Given the description of an element on the screen output the (x, y) to click on. 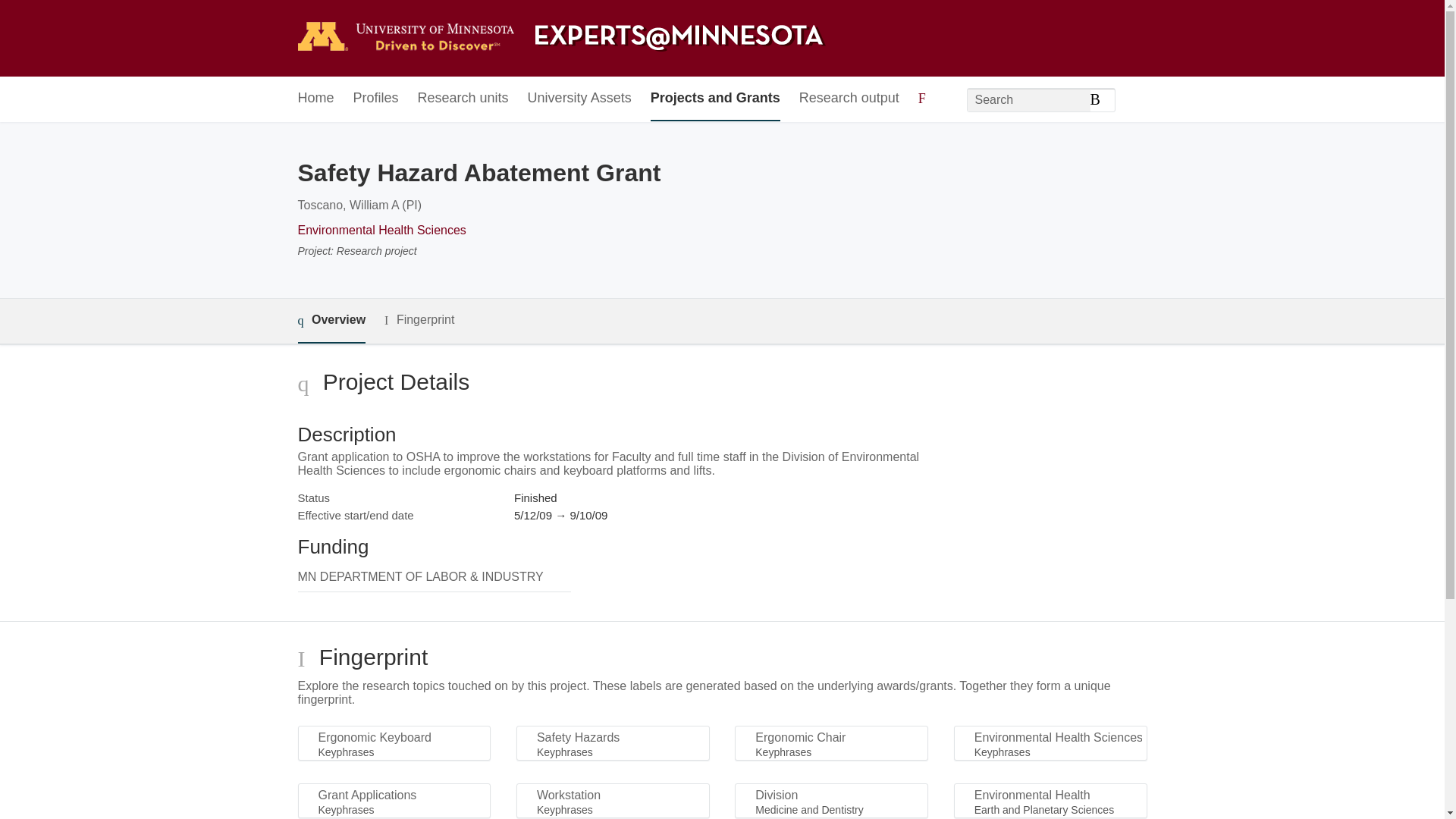
Profiles (375, 98)
Projects and Grants (715, 98)
Research units (462, 98)
Environmental Health Sciences (381, 229)
Fingerprint (419, 320)
University Assets (579, 98)
Overview (331, 320)
Research output (849, 98)
